Given the description of an element on the screen output the (x, y) to click on. 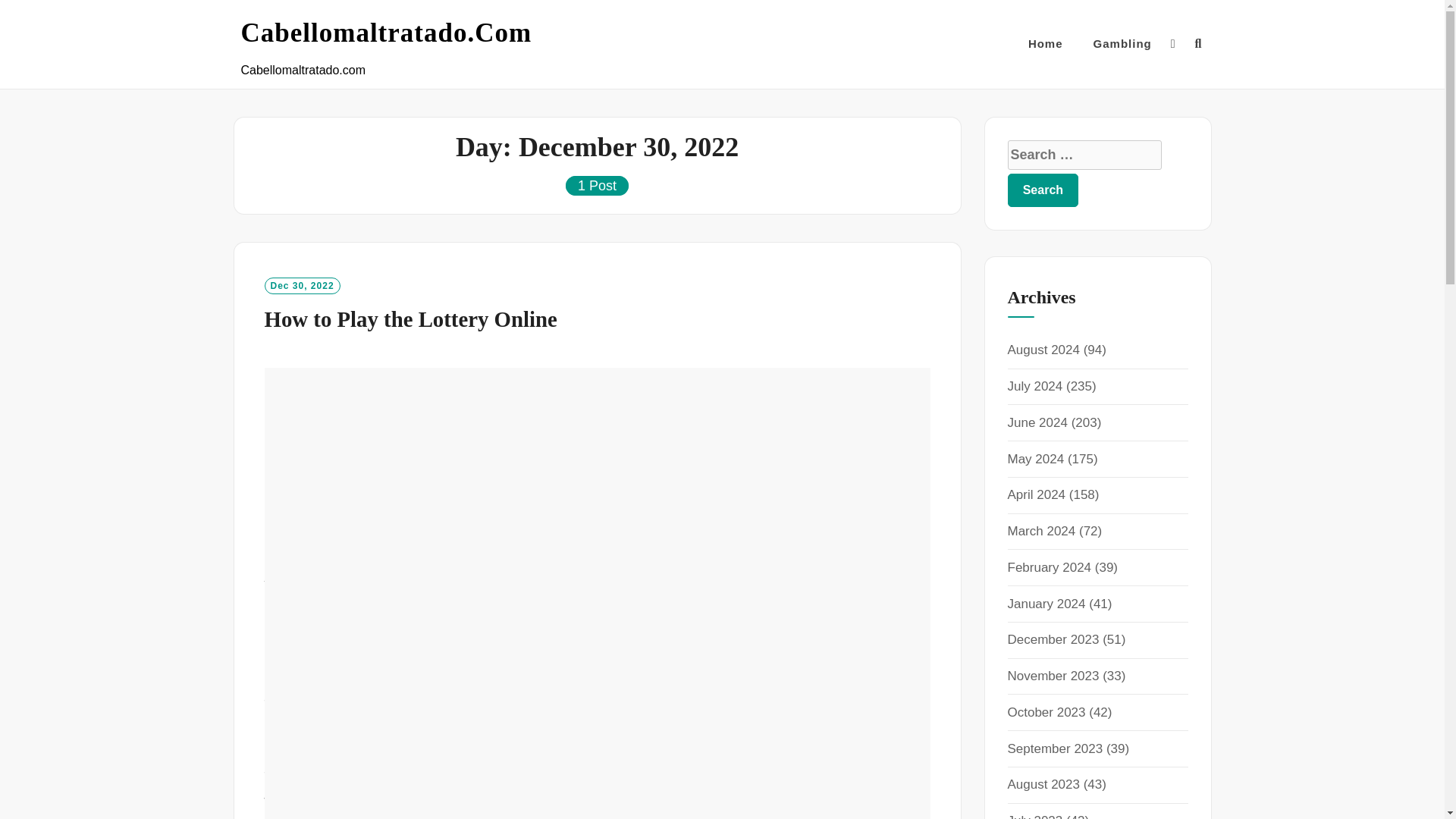
August 2024 (1042, 350)
August 2023 (1042, 784)
December 2023 (1053, 639)
April 2024 (1036, 494)
Search (1042, 190)
Home (1044, 44)
September 2023 (1054, 748)
How to Play the Lottery Online (409, 319)
May 2024 (1035, 459)
January 2024 (1045, 603)
